Given the description of an element on the screen output the (x, y) to click on. 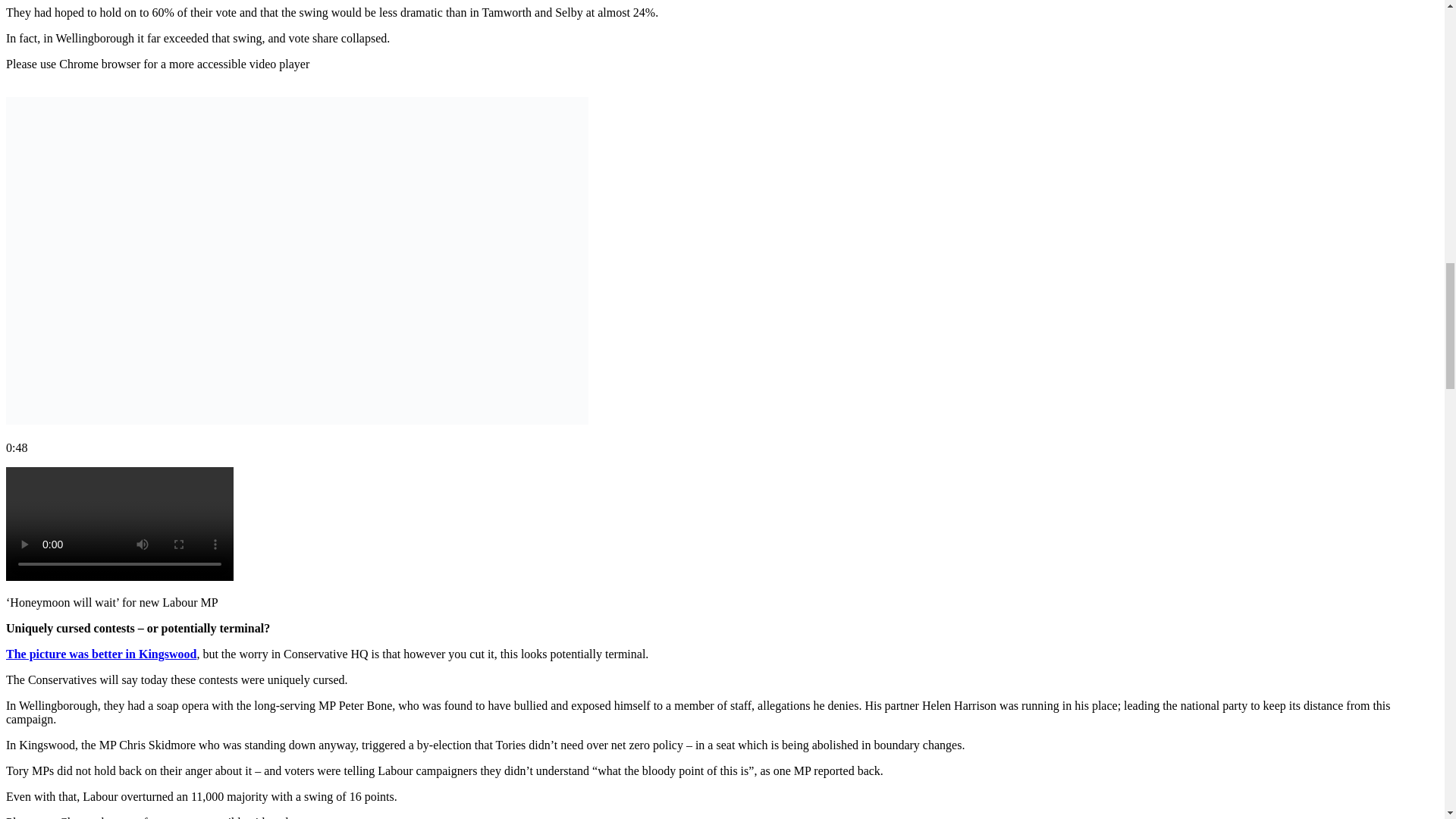
The picture was better in Kingswood (100, 653)
